Given the description of an element on the screen output the (x, y) to click on. 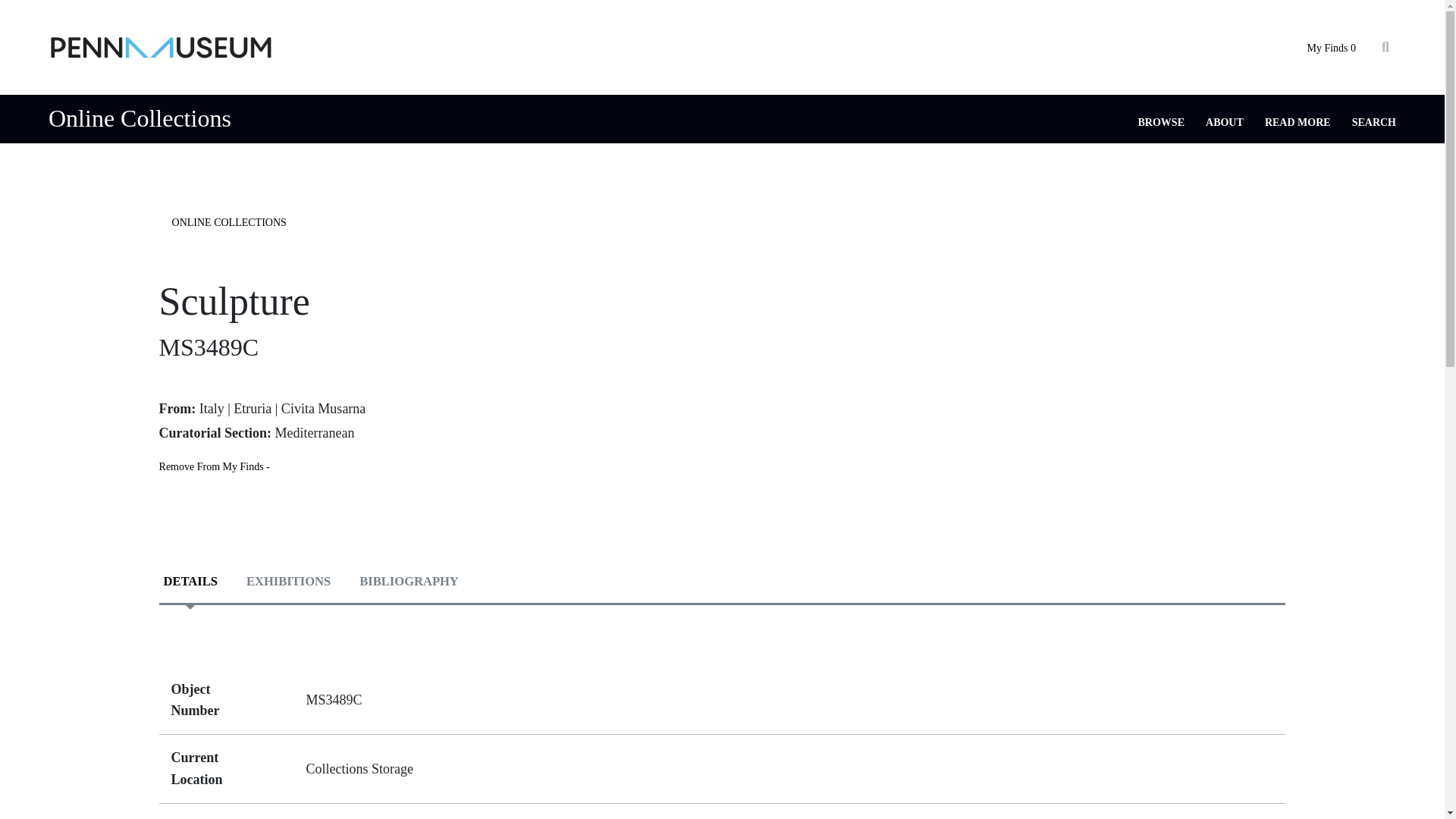
READ MORE (1297, 122)
BROWSE (1161, 122)
SEARCH (1374, 122)
My Finds 0 (1330, 48)
ABOUT (1224, 122)
Online Collections (139, 117)
